Given the description of an element on the screen output the (x, y) to click on. 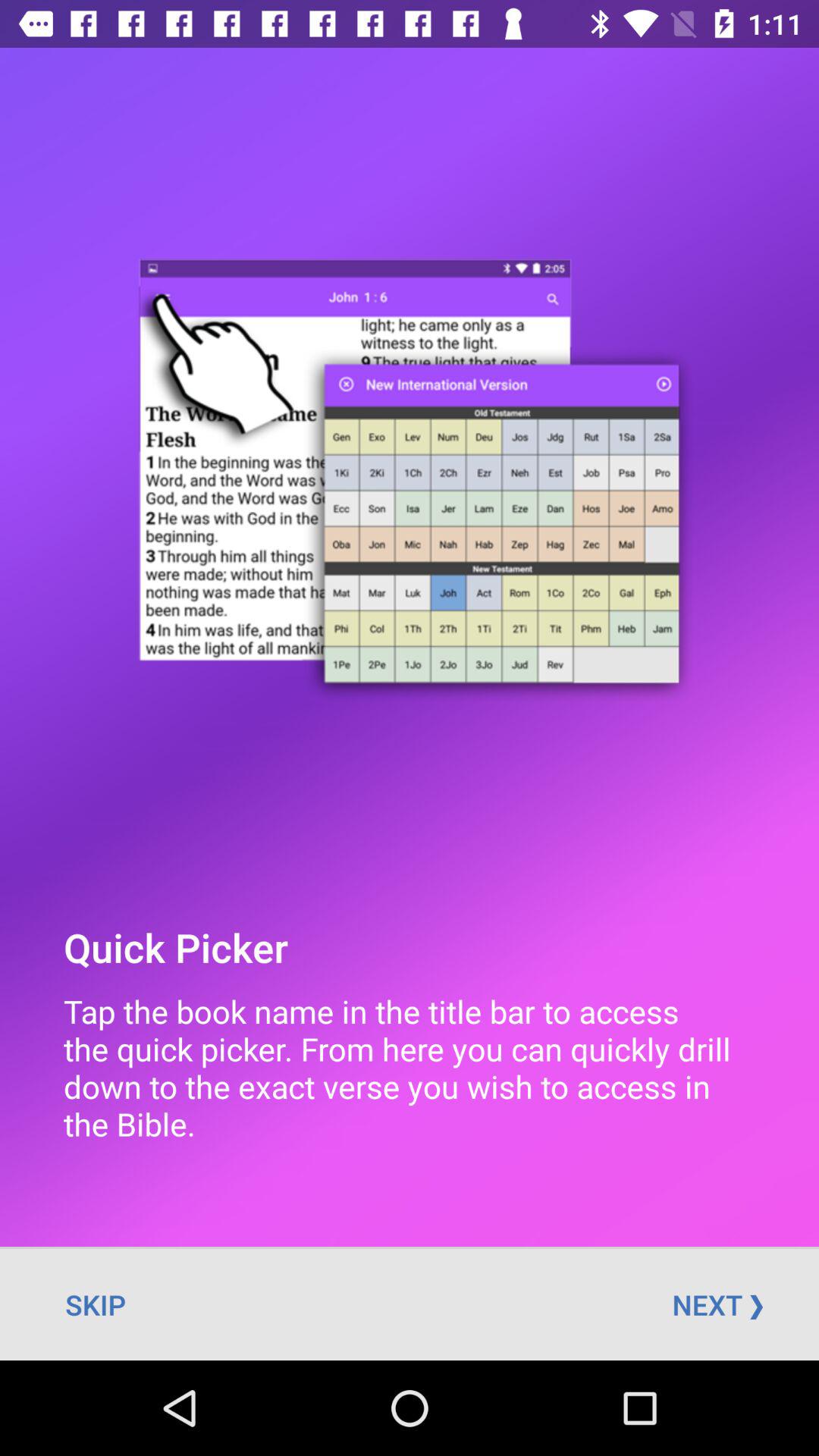
launch the icon next to the skip (717, 1304)
